Given the description of an element on the screen output the (x, y) to click on. 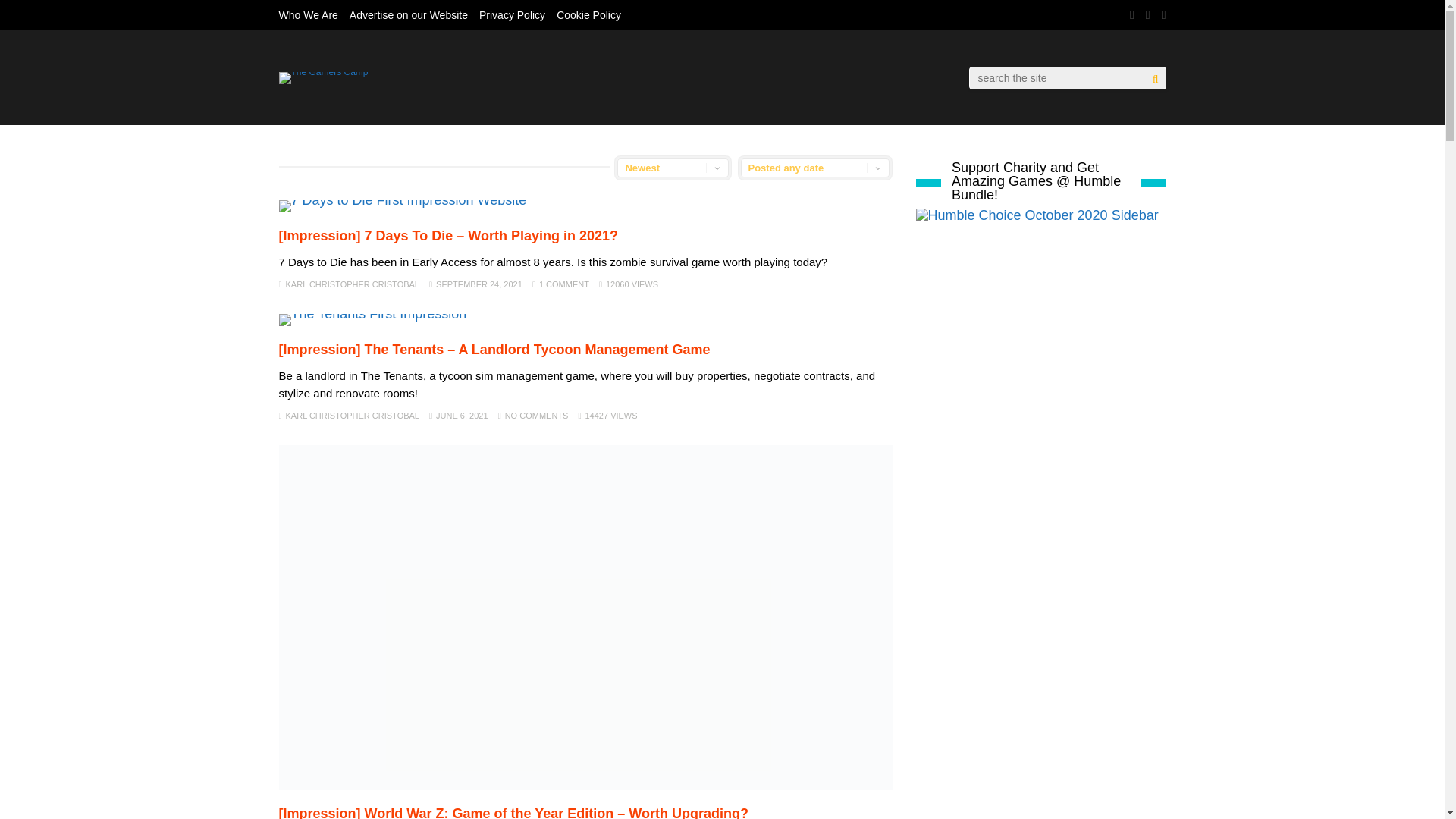
Cookie Policy (588, 15)
Advertise (408, 15)
The Gamers Camp (323, 71)
Privacy Policy (511, 15)
Who We Are (308, 15)
Advertise on our Website (408, 15)
